Given the description of an element on the screen output the (x, y) to click on. 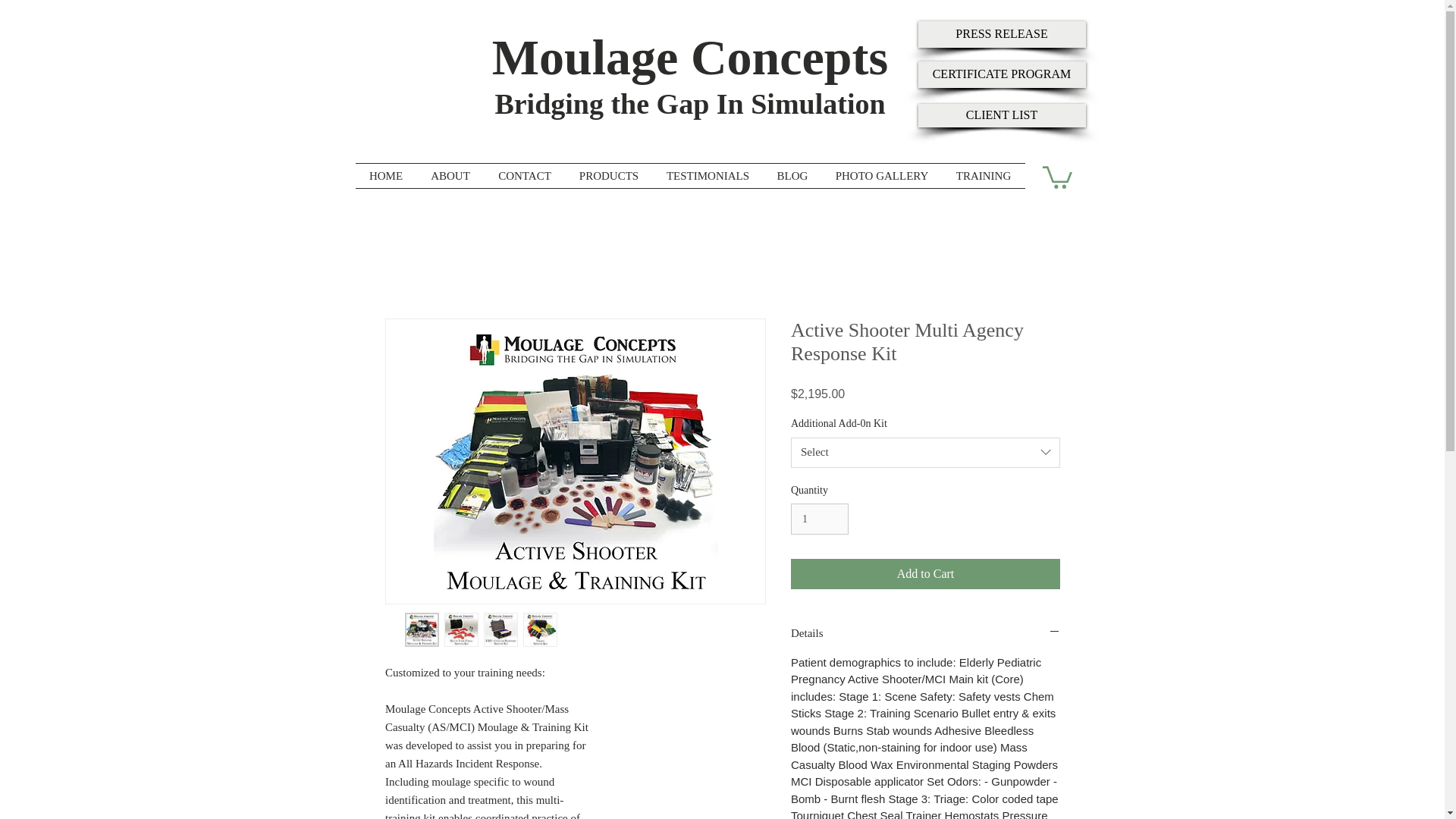
BLOG (791, 175)
CONTACT (523, 175)
CLIENT LIST (1000, 115)
PHOTO GALLERY (882, 175)
TESTIMONIALS (707, 175)
HOME (385, 175)
CERTIFICATE PROGRAM (1000, 74)
1 (819, 518)
PRESS RELEASE (1000, 34)
TRAINING (983, 175)
ABOUT (450, 175)
PRODUCTS (609, 175)
